Given the description of an element on the screen output the (x, y) to click on. 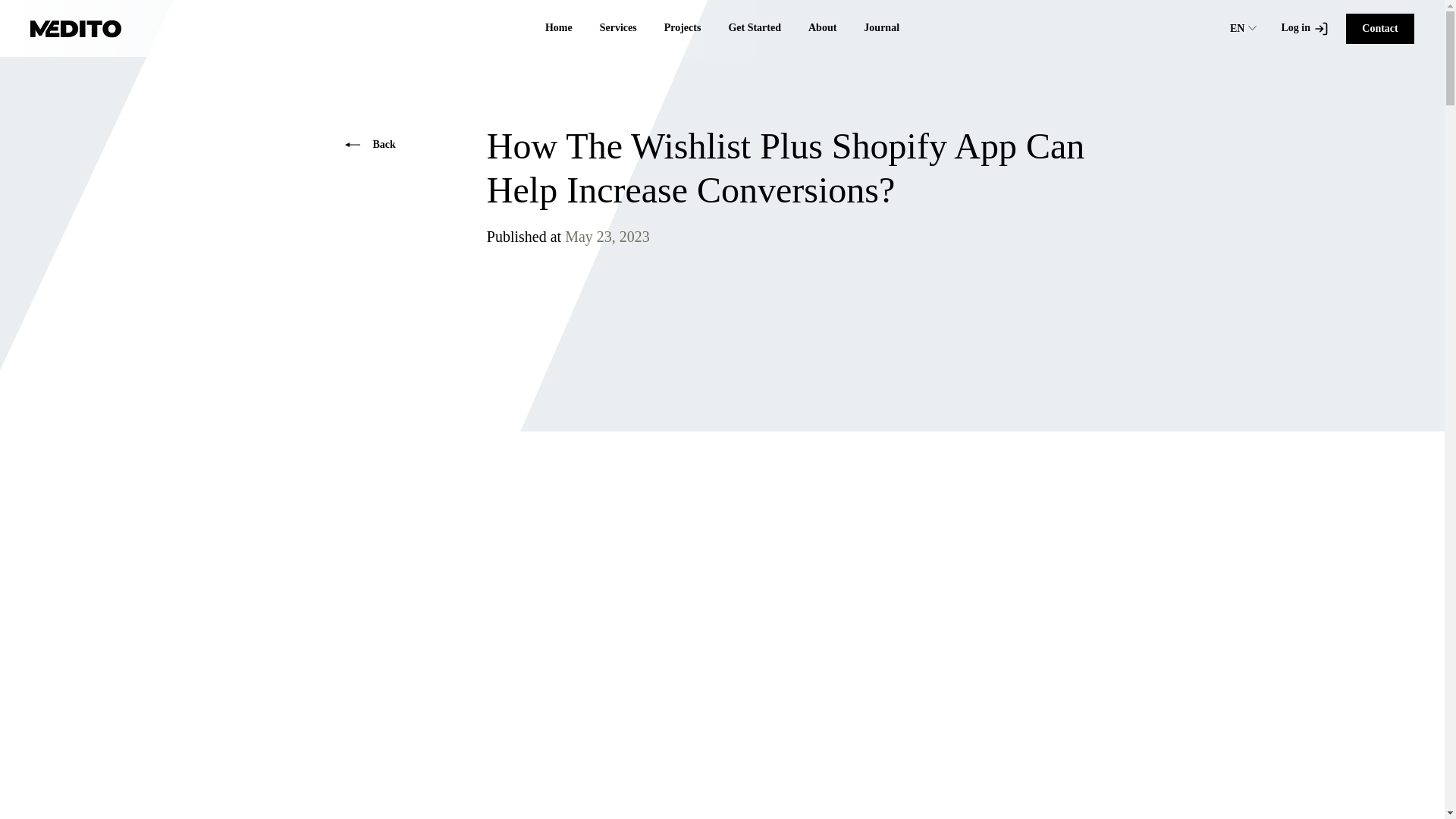
Home (558, 28)
Services (618, 28)
